Given the description of an element on the screen output the (x, y) to click on. 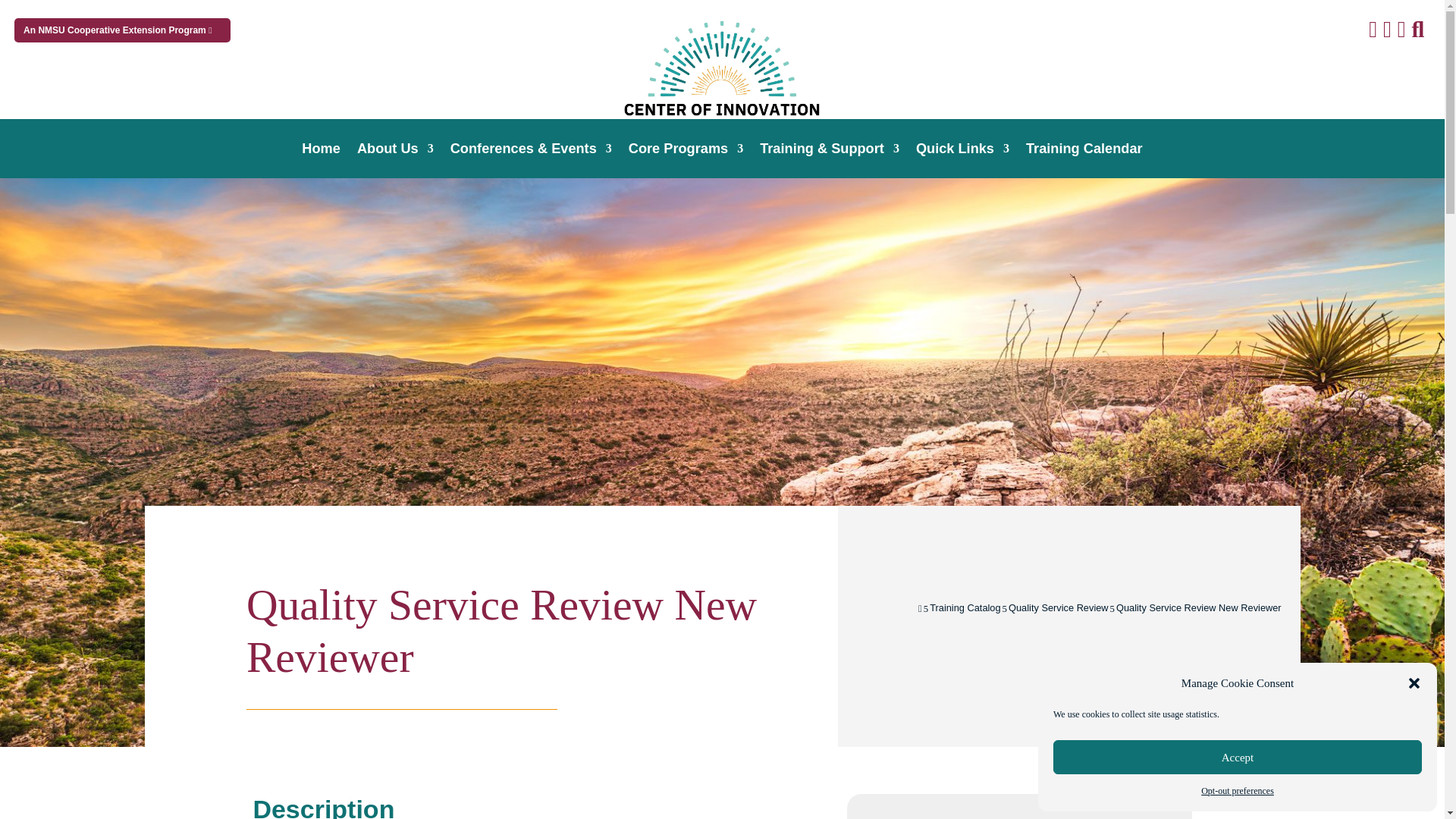
About Us (394, 151)
Core Programs (685, 151)
Accept (1237, 756)
Opt-out preferences (1237, 791)
Home (320, 151)
An NMSU Cooperative Extension Program (122, 30)
